Given the description of an element on the screen output the (x, y) to click on. 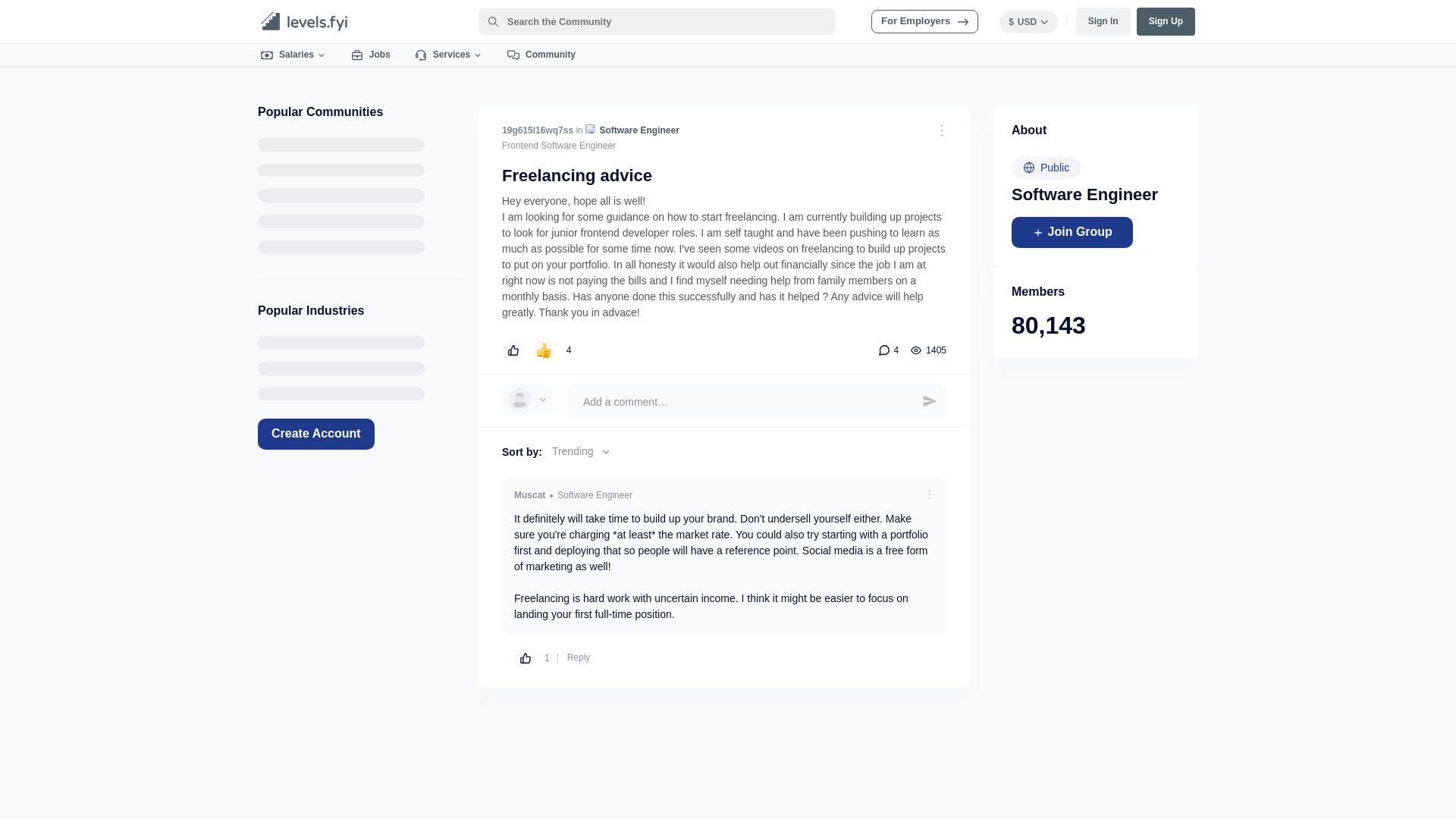
Sign In (1103, 21)
Salaries (293, 55)
Jobs (371, 55)
Sign Up (1166, 21)
Services (449, 55)
For Employers (924, 21)
